Given the description of an element on the screen output the (x, y) to click on. 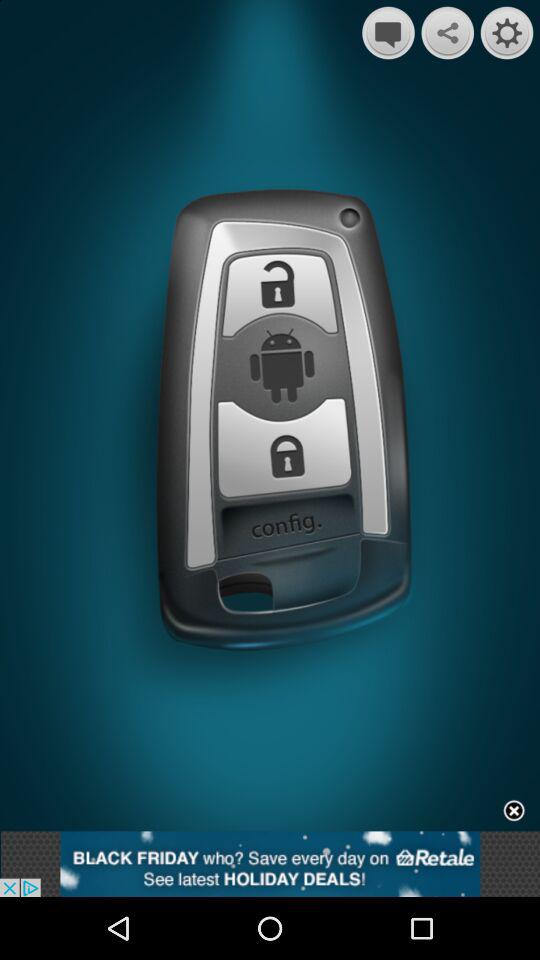
message box (388, 32)
